Given the description of an element on the screen output the (x, y) to click on. 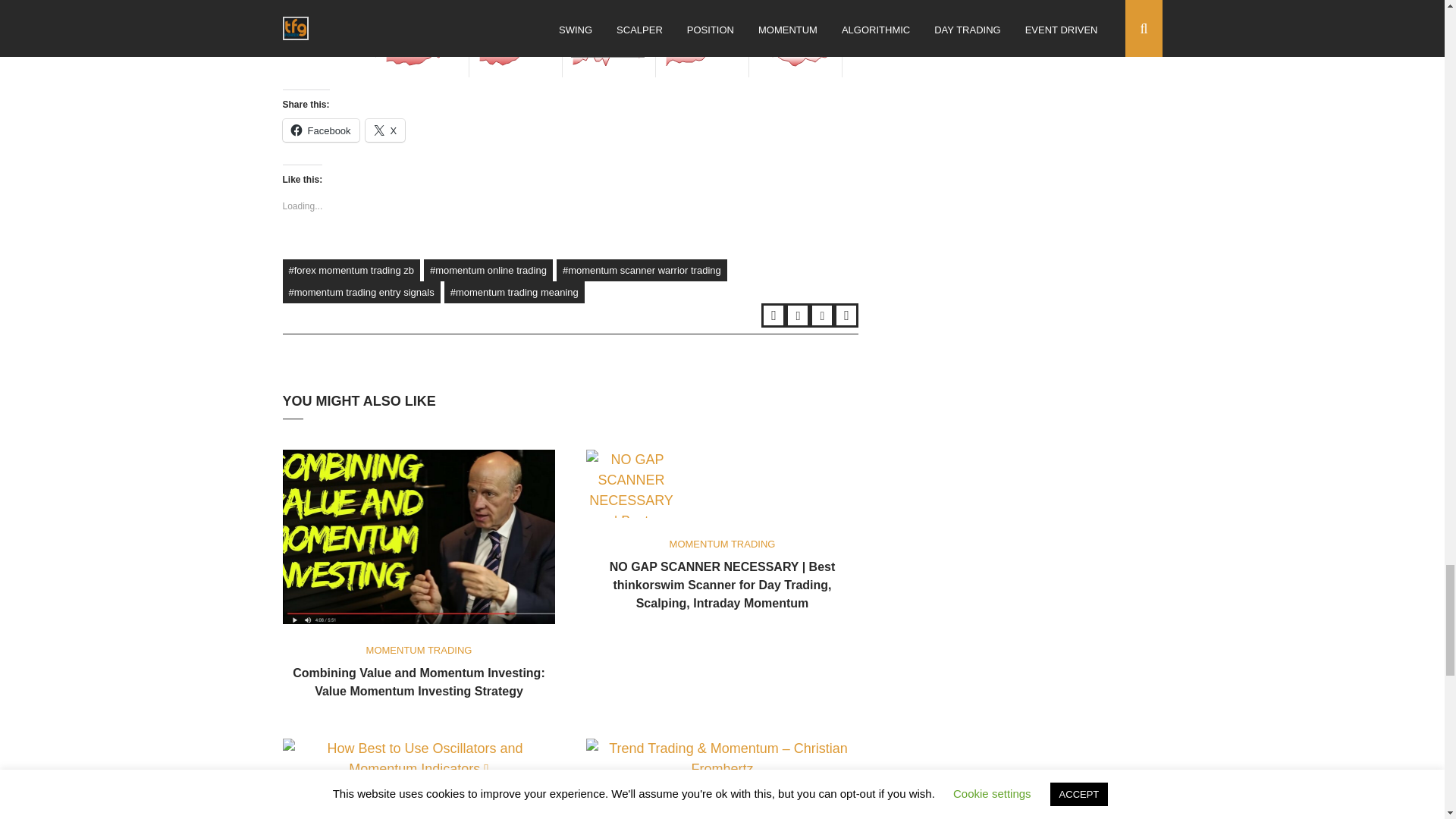
Twitter (773, 315)
Pinterest (846, 315)
MOMENTUM TRADING (722, 543)
X (385, 129)
Click to share on X (385, 129)
Facebook (320, 129)
Facebook (797, 315)
Click to share on Facebook (320, 129)
MOMENTUM TRADING (418, 650)
